Given the description of an element on the screen output the (x, y) to click on. 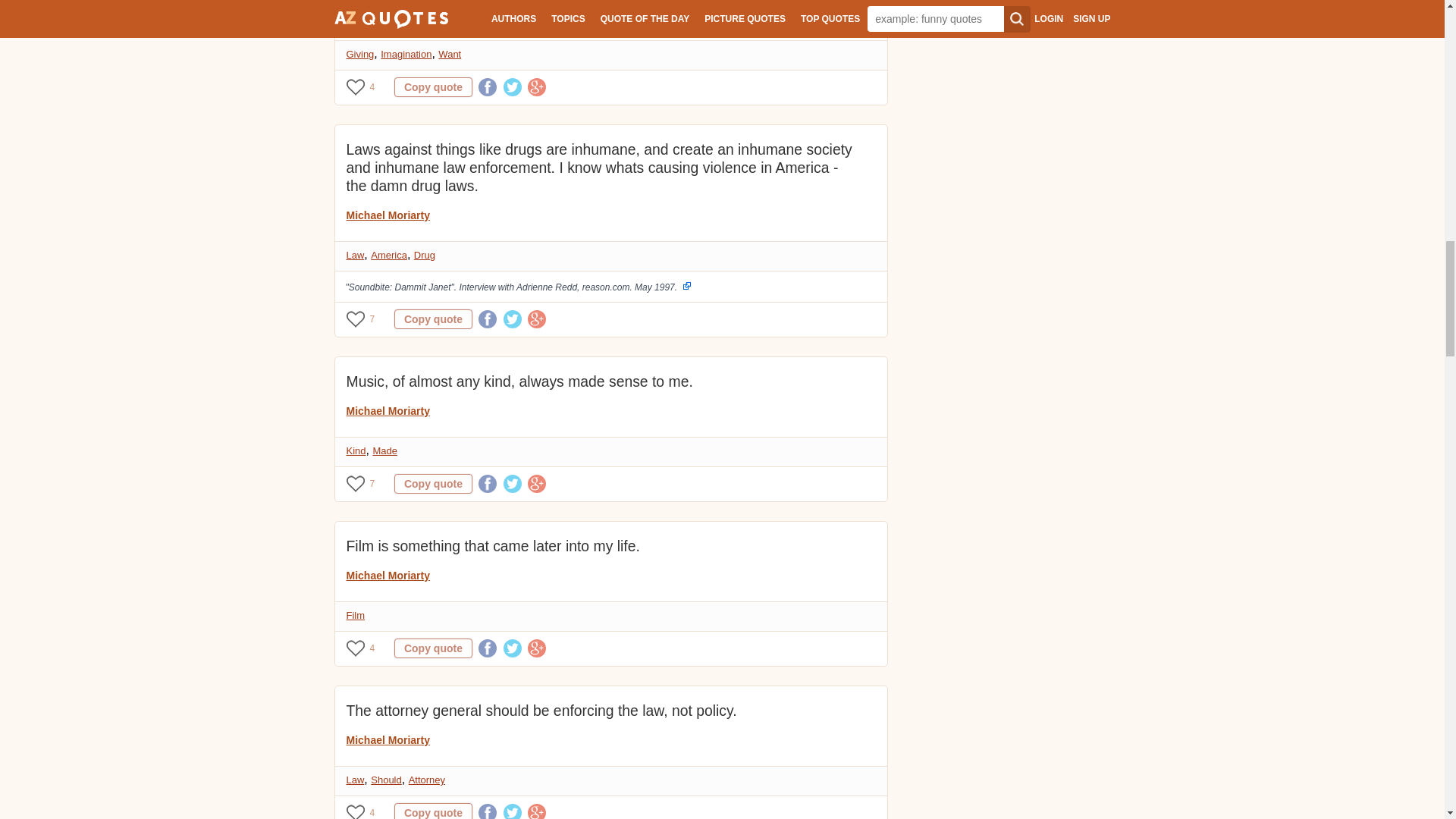
Quote is copied (432, 811)
Quote is copied (432, 648)
Quote is copied (432, 483)
Quote is copied (432, 86)
Quote is copied (432, 319)
